Given the description of an element on the screen output the (x, y) to click on. 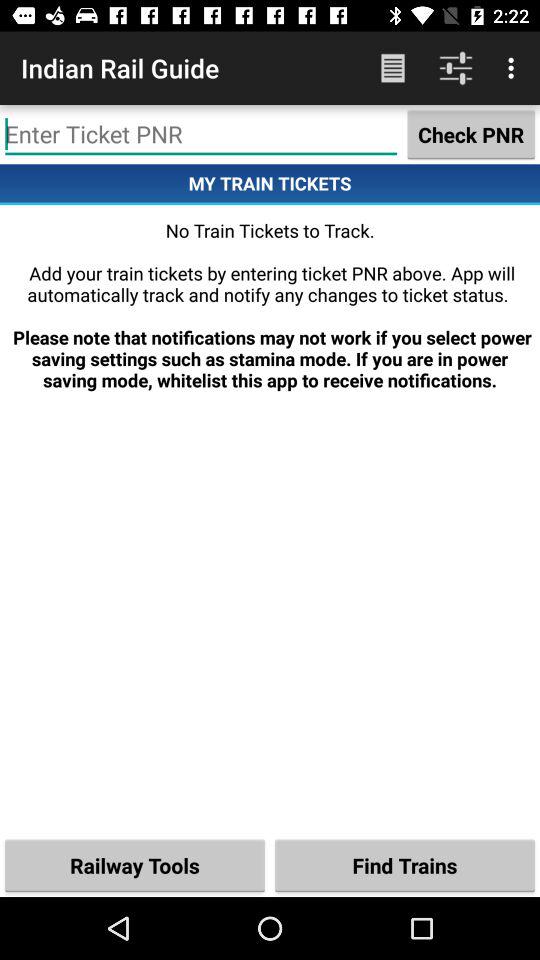
click icon next to the find trains icon (135, 864)
